Given the description of an element on the screen output the (x, y) to click on. 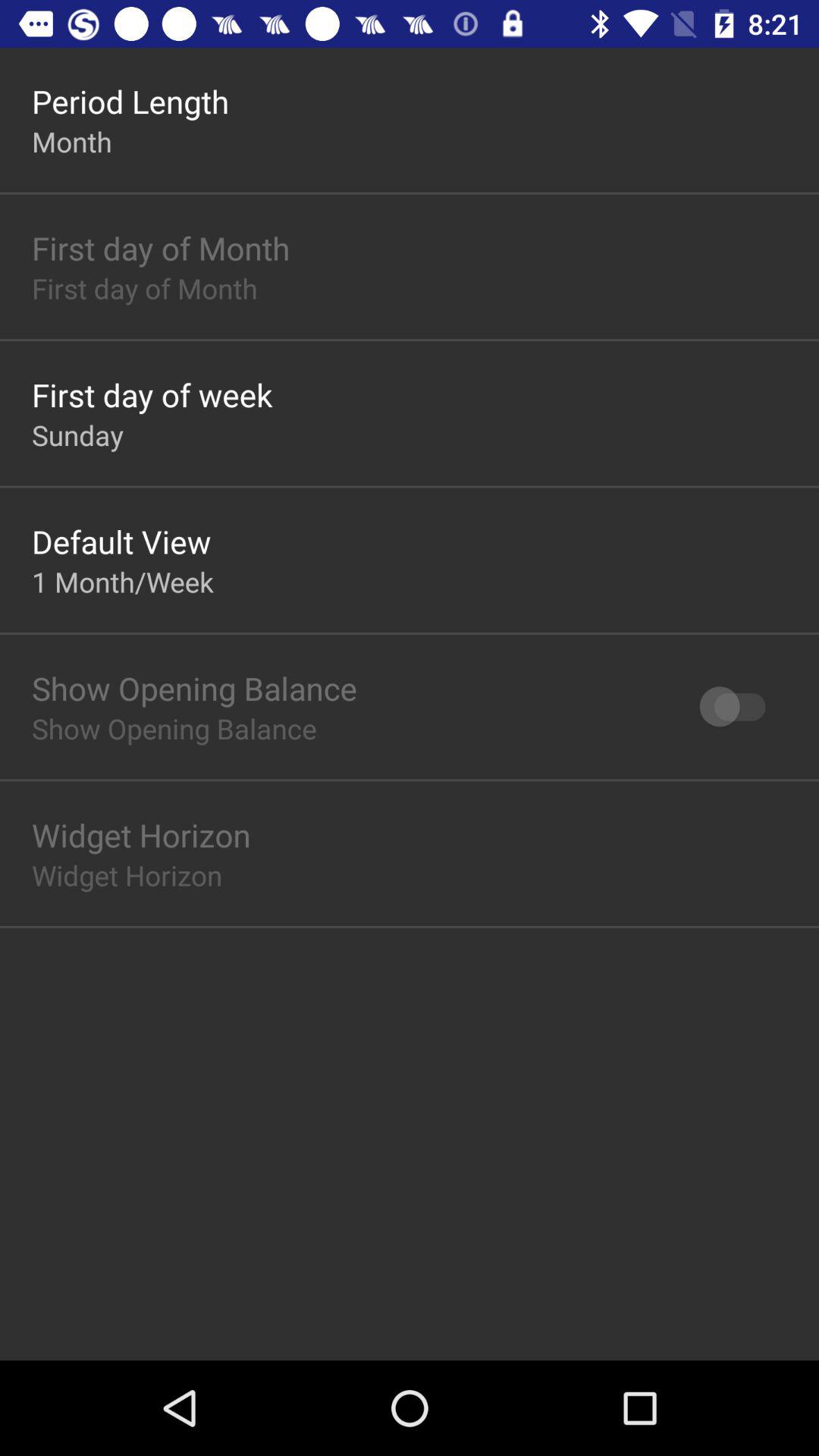
swipe until default view (121, 541)
